Given the description of an element on the screen output the (x, y) to click on. 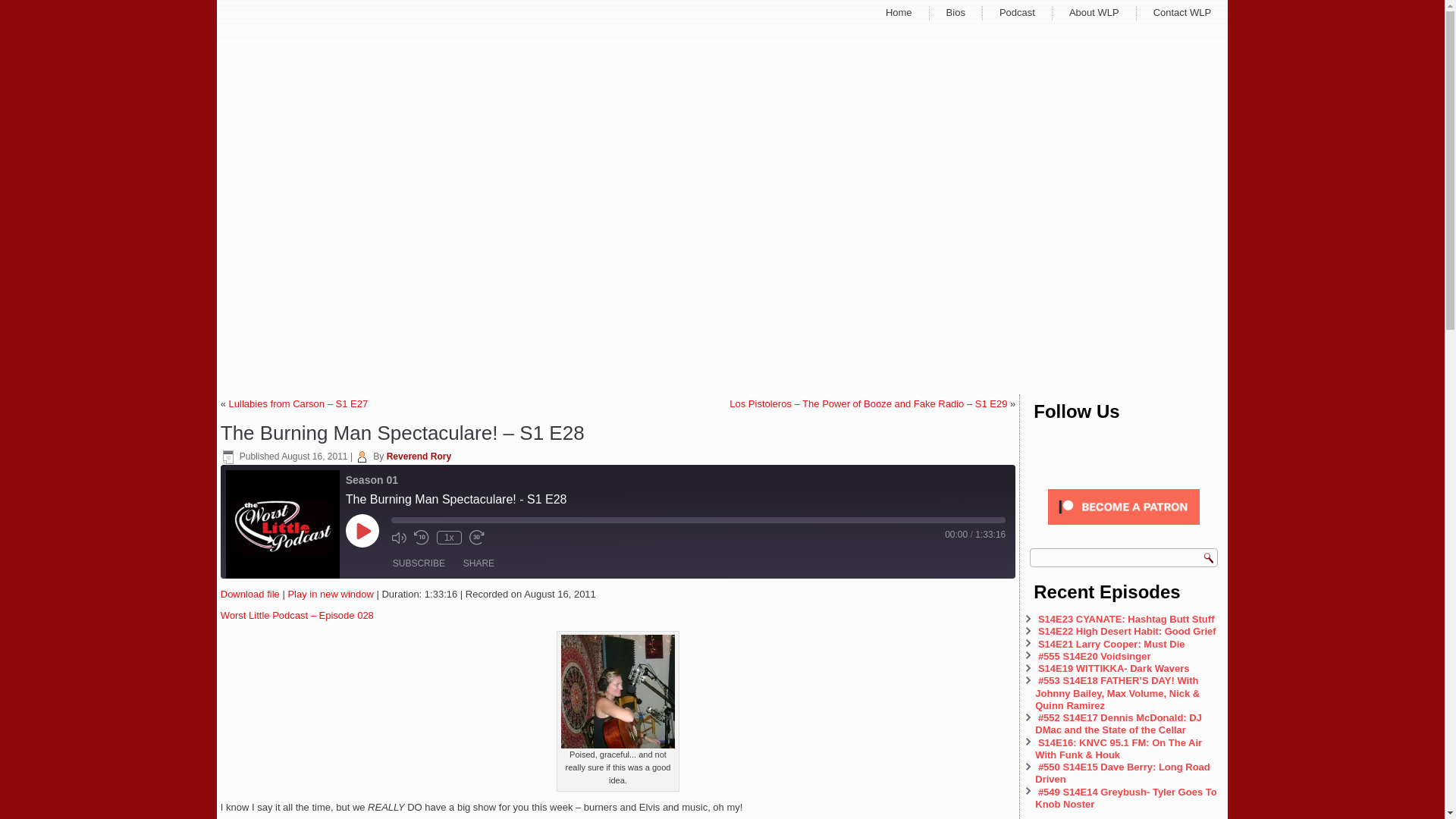
SHARE (478, 563)
1x (448, 537)
Download file (250, 593)
Bios (955, 12)
About WLP (1094, 12)
Podcast (1017, 12)
Podcast (1017, 12)
Rewind 10 Seconds (421, 537)
SUBSCRIBE (418, 563)
Play Episode (362, 530)
